Given the description of an element on the screen output the (x, y) to click on. 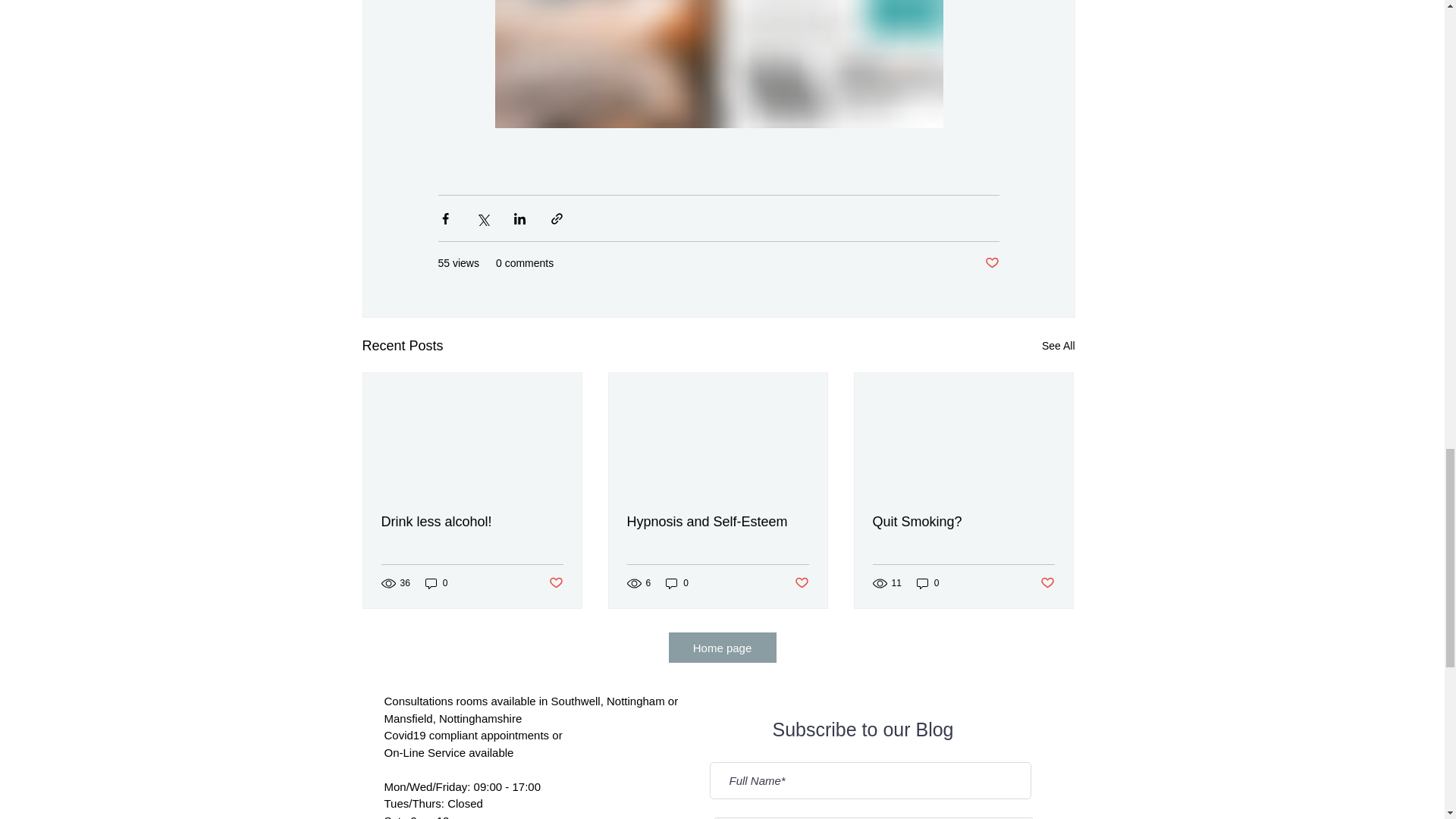
See All (1058, 345)
Post not marked as liked (801, 583)
Hypnosis and Self-Esteem (717, 521)
Quit Smoking? (963, 521)
0 (676, 583)
Post not marked as liked (555, 583)
Post not marked as liked (991, 263)
0 (436, 583)
Drink less alcohol! (471, 521)
